Given the description of an element on the screen output the (x, y) to click on. 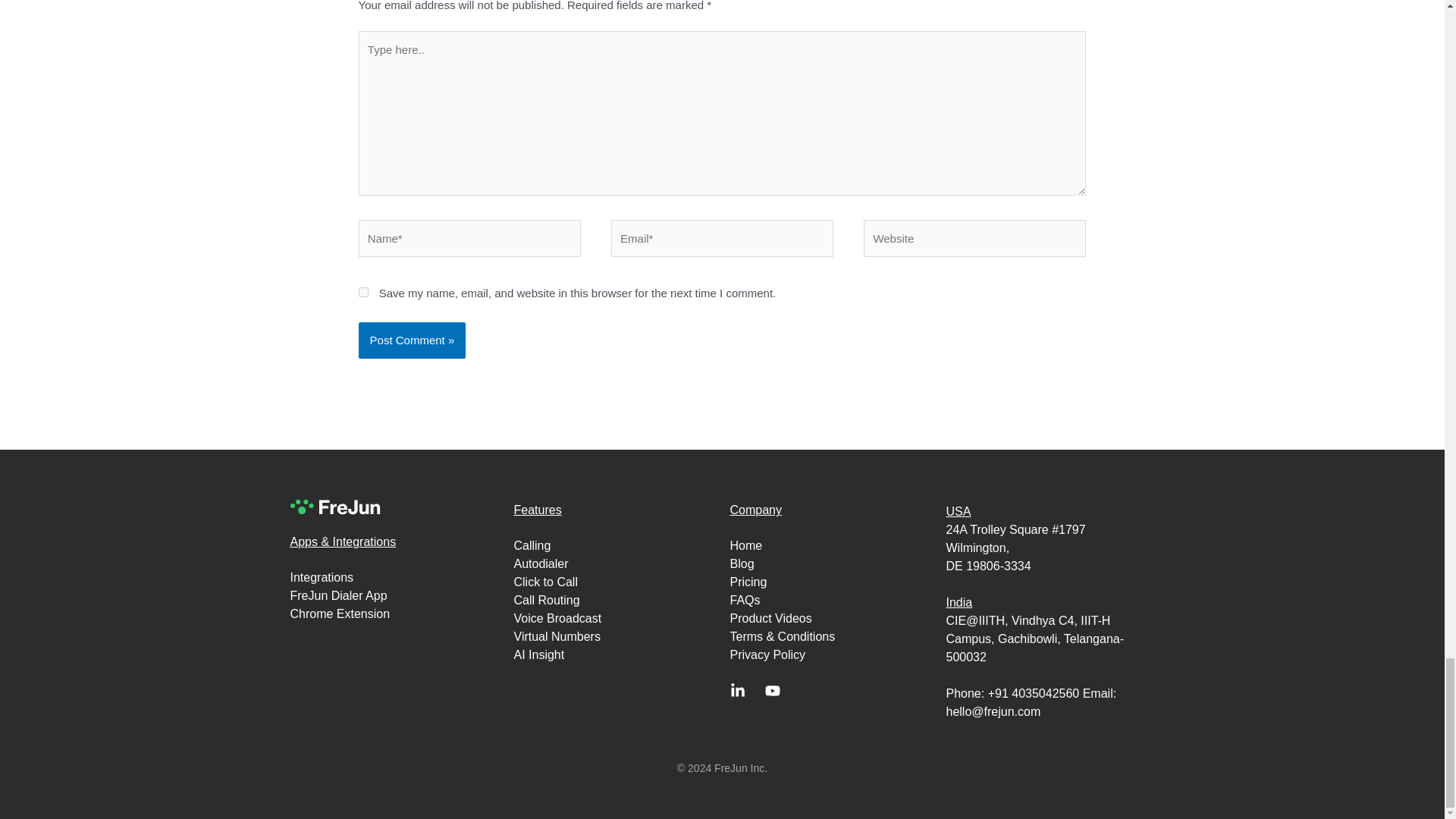
yes (363, 292)
FreJun Dialer App (397, 596)
Calling (613, 546)
Chrome Extension (397, 614)
Integrations (397, 577)
